Given the description of an element on the screen output the (x, y) to click on. 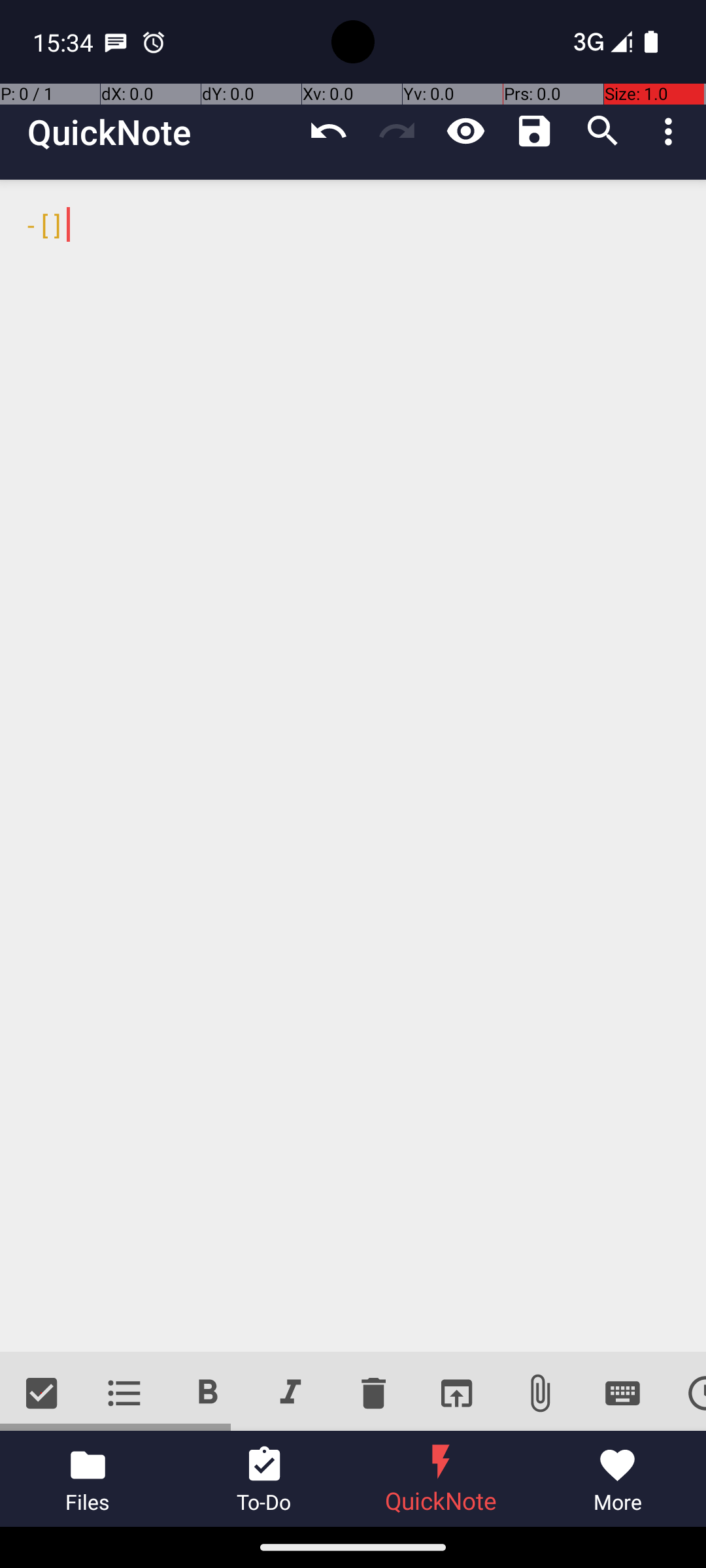
- [ ]  Element type: android.widget.EditText (353, 765)
